Given the description of an element on the screen output the (x, y) to click on. 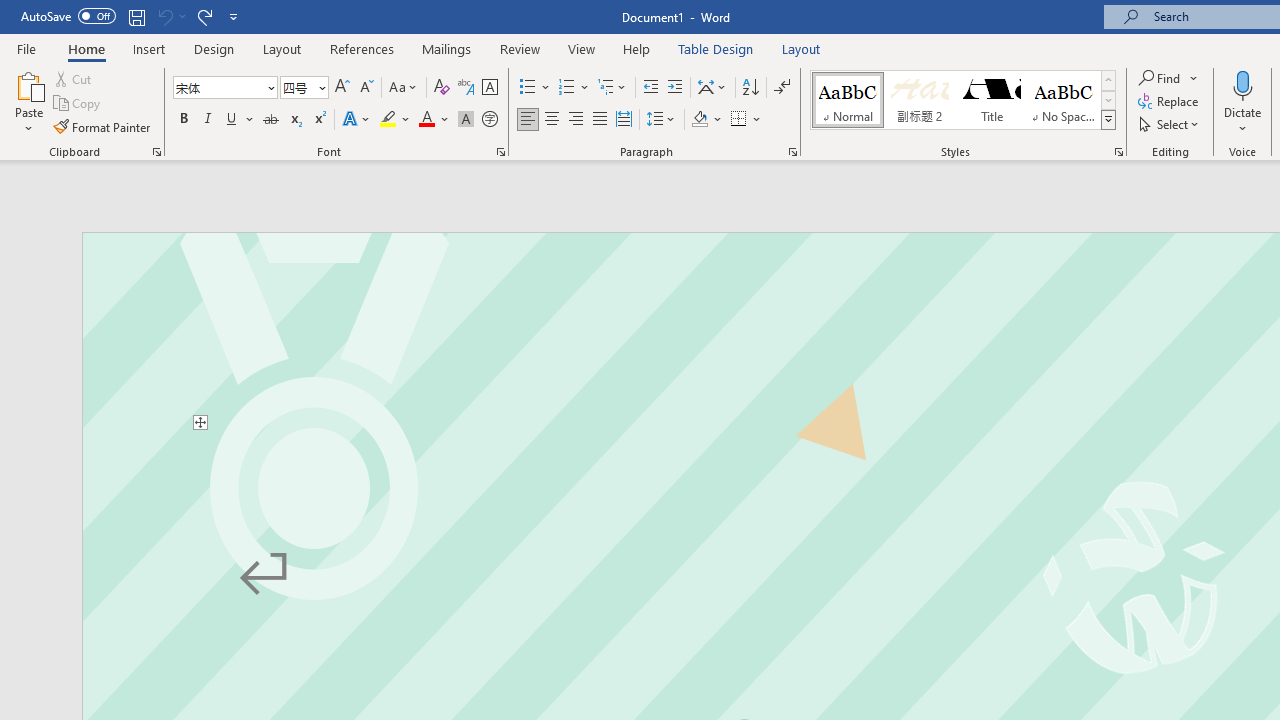
Bullets (535, 87)
Quick Access Toolbar (131, 16)
Character Border (489, 87)
Paste (28, 102)
Cut (73, 78)
Shading (706, 119)
File Tab (26, 48)
Numbering (566, 87)
Bullets (527, 87)
Character Shading (465, 119)
Borders (739, 119)
Subscript (294, 119)
Design (214, 48)
